Given the description of an element on the screen output the (x, y) to click on. 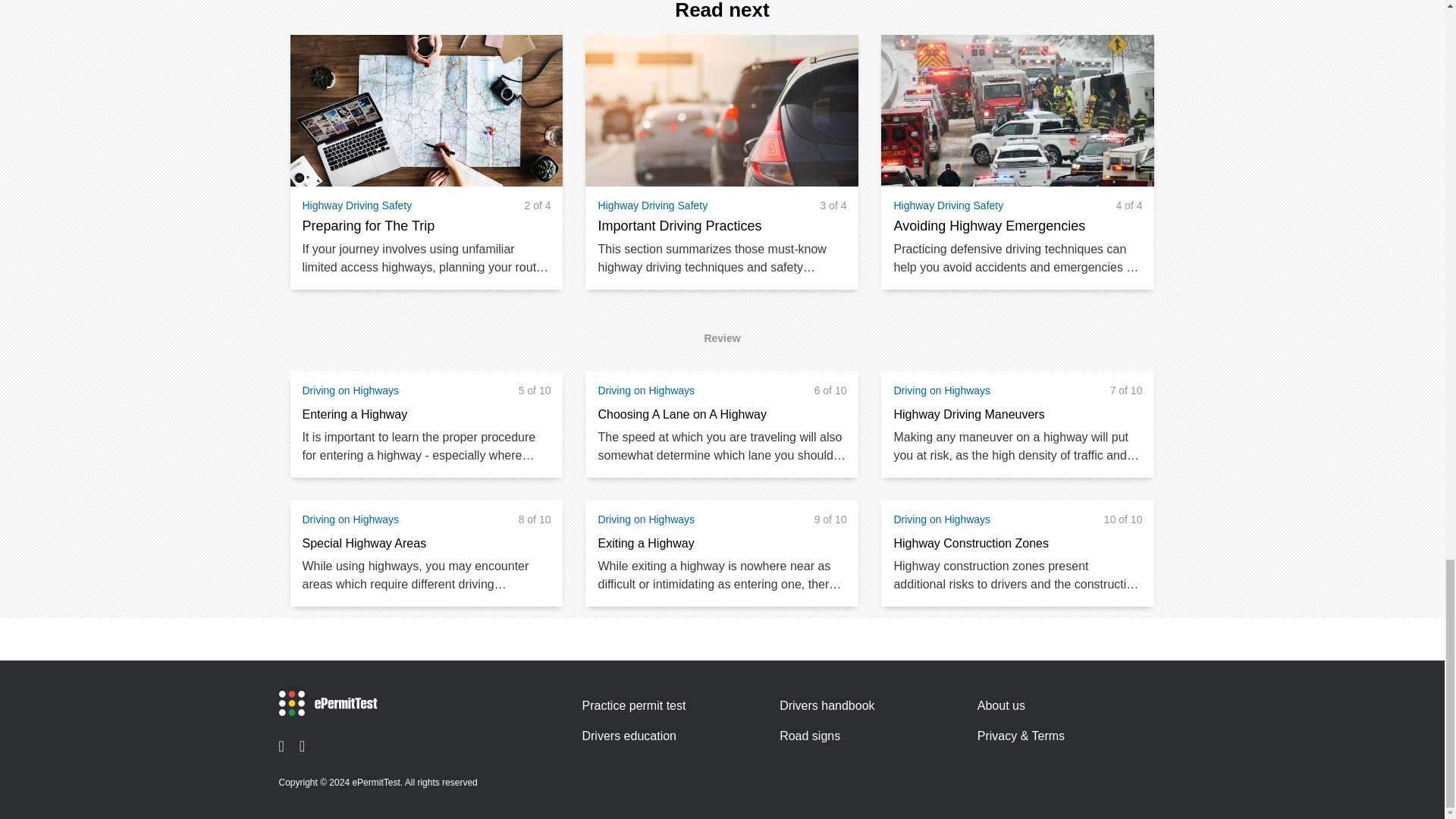
Highway Construction Zones (970, 543)
Road signs (809, 736)
Avoiding Highway Emergencies (988, 226)
Entering a Highway (354, 414)
Practice permit test (632, 705)
About us (1000, 705)
Preparing for The Trip (367, 226)
Drivers education (628, 736)
Preparing for The Trip (367, 226)
Drivers handbook (826, 705)
